Given the description of an element on the screen output the (x, y) to click on. 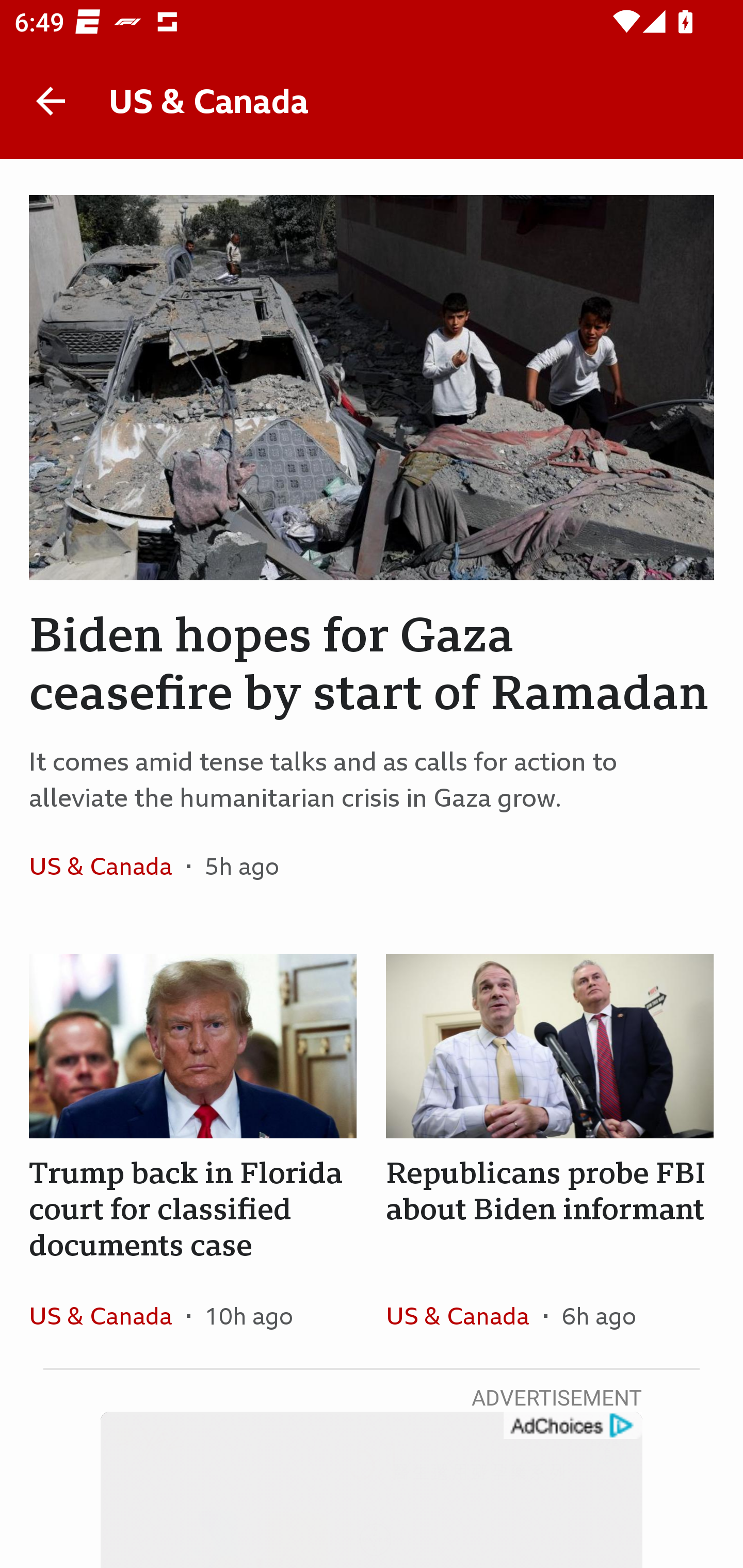
Back (50, 101)
US & Canada In the section US & Canada (107, 865)
US & Canada In the section US & Canada (107, 1315)
US & Canada In the section US & Canada (464, 1315)
Video Player get?name=admarker-full-tl   (371, 1489)
get?name=admarker-full-tl (571, 1425)
